Given the description of an element on the screen output the (x, y) to click on. 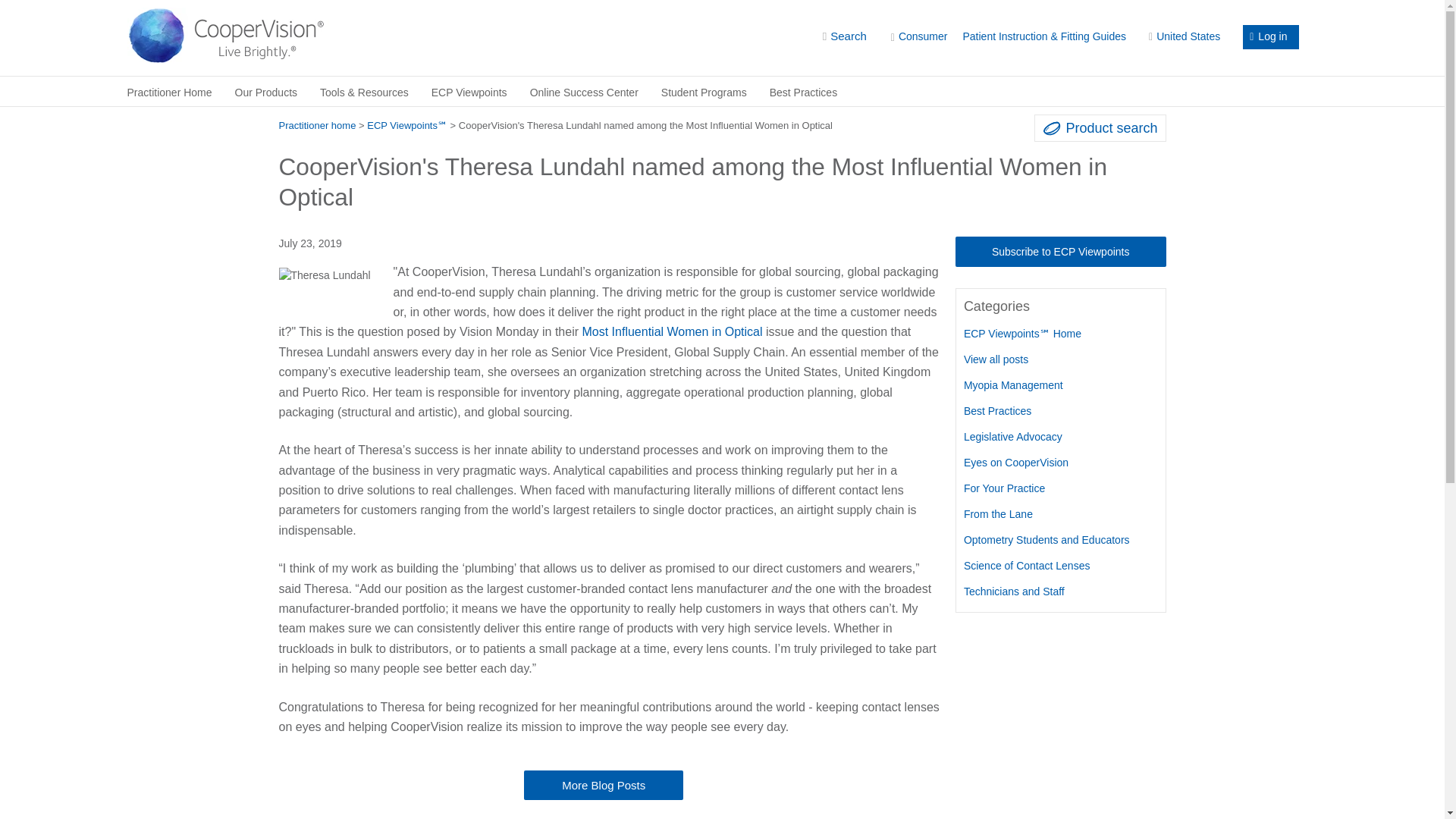
Consumer (919, 36)
Log in (1270, 37)
Practitioner Home (168, 91)
United States (1184, 36)
Our Products (266, 91)
